Given the description of an element on the screen output the (x, y) to click on. 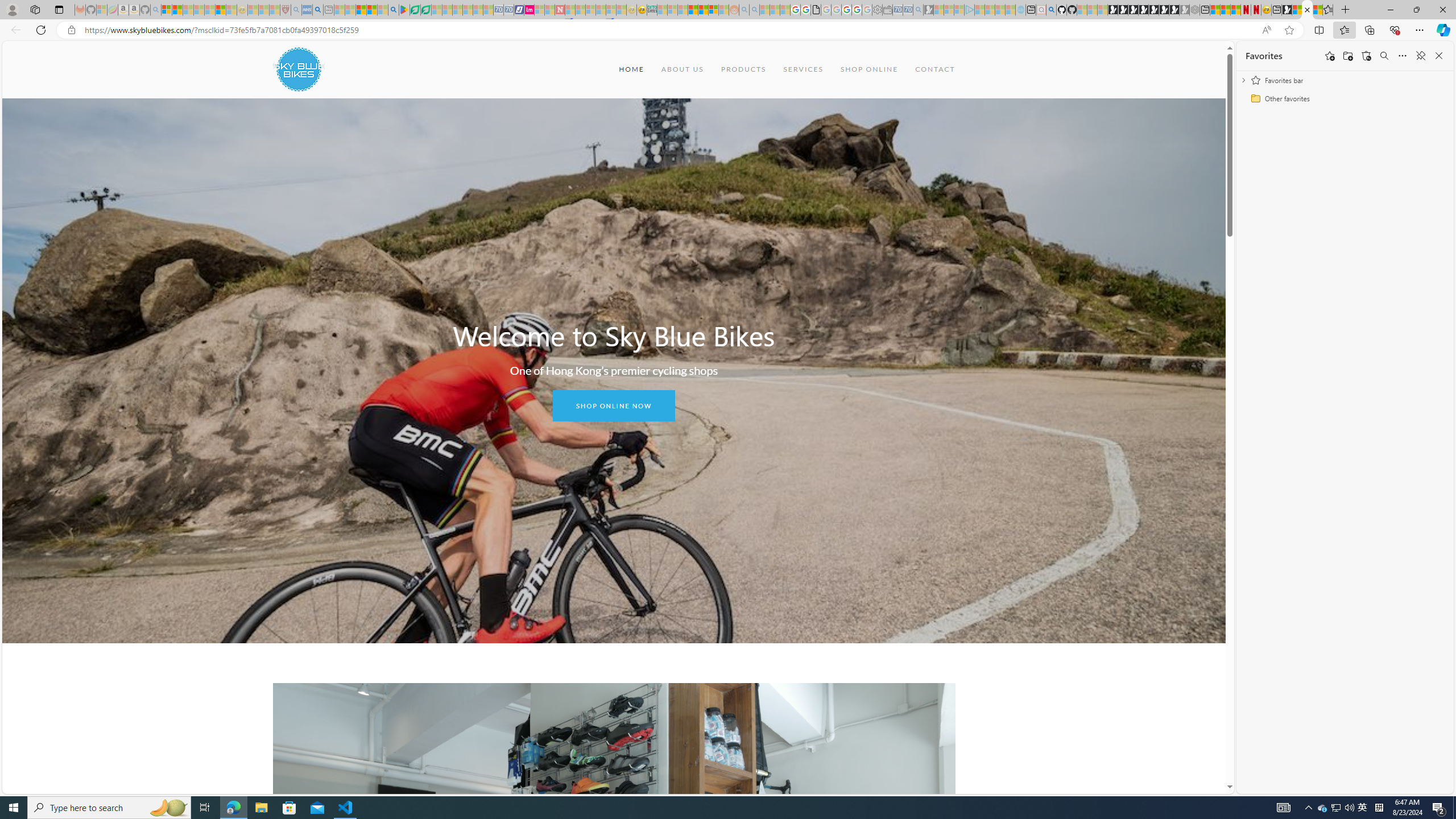
ABOUT US (681, 68)
Robert H. Shmerling, MD - Harvard Health - Sleeping (285, 9)
Pets - MSN (371, 9)
Bing Real Estate - Home sales and rental listings - Sleeping (918, 9)
CONTACT (935, 68)
github - Search (1051, 9)
Wallet - Sleeping (886, 9)
Class: uk-navbar-item uk-logo (298, 68)
